Given the description of an element on the screen output the (x, y) to click on. 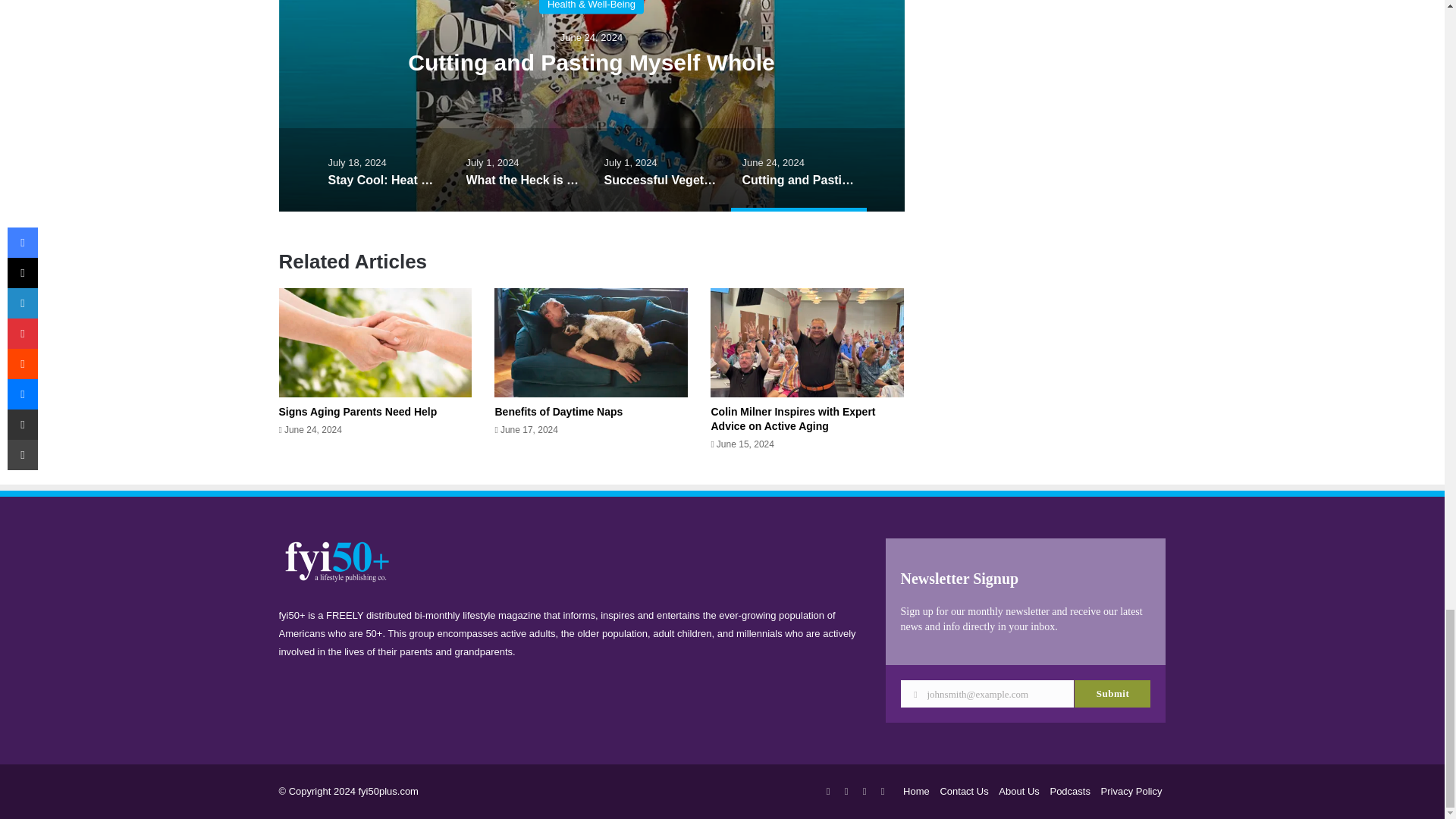
Signs Aging Parents Need Help 2 (375, 342)
Benefits of Daytime Naps 3 (591, 342)
Colin Milner Inspires with Expert Advice on Active Aging 4 (807, 342)
